Given the description of an element on the screen output the (x, y) to click on. 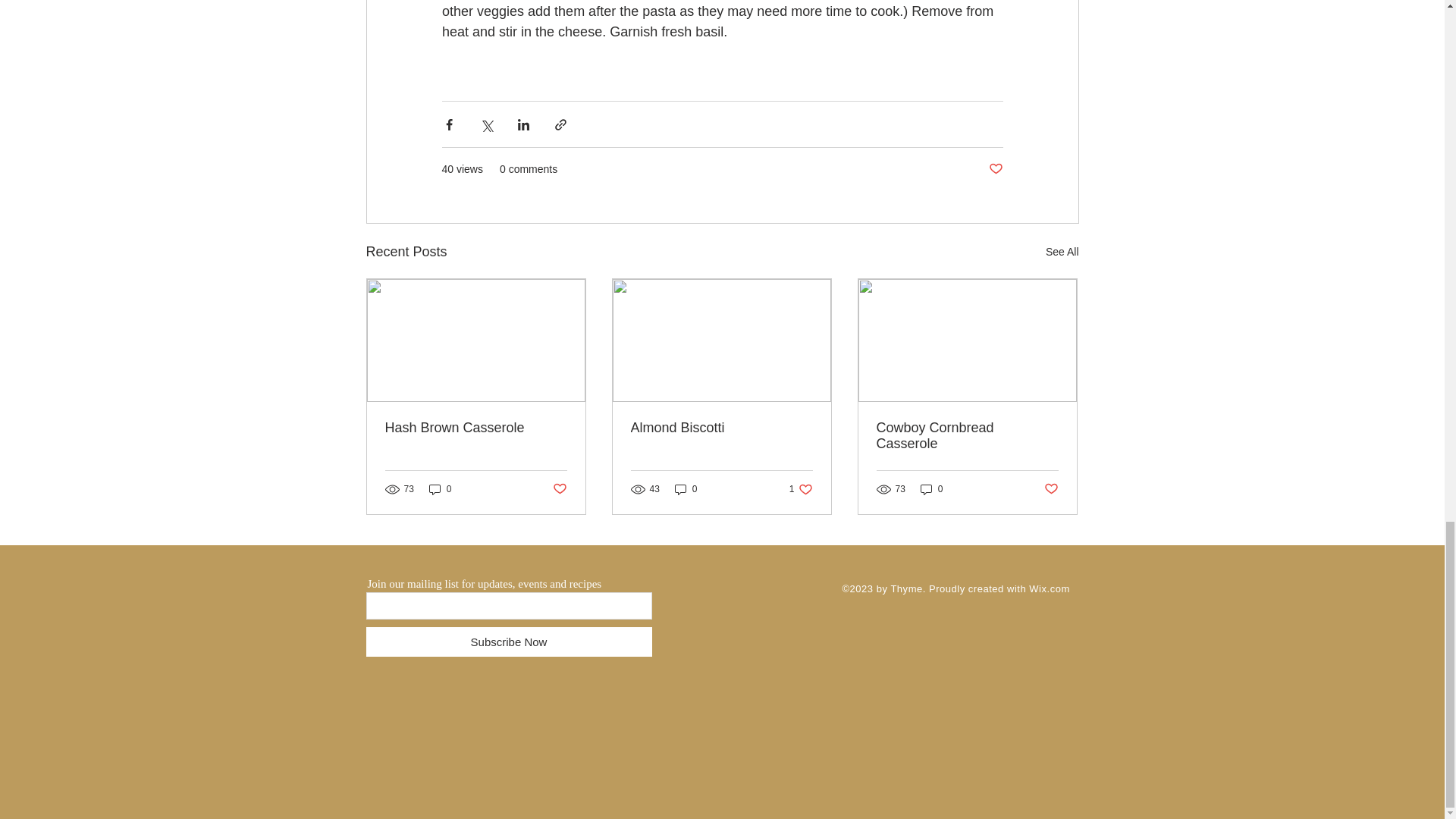
Post not marked as liked (1050, 489)
Hash Brown Casserole (476, 427)
0 (440, 488)
0 (685, 488)
Almond Biscotti (721, 427)
0 (931, 488)
Subscribe Now (507, 641)
Wix.com (1048, 588)
Post not marked as liked (995, 169)
Cowboy Cornbread Casserole (967, 436)
Post not marked as liked (558, 489)
See All (800, 488)
